Given the description of an element on the screen output the (x, y) to click on. 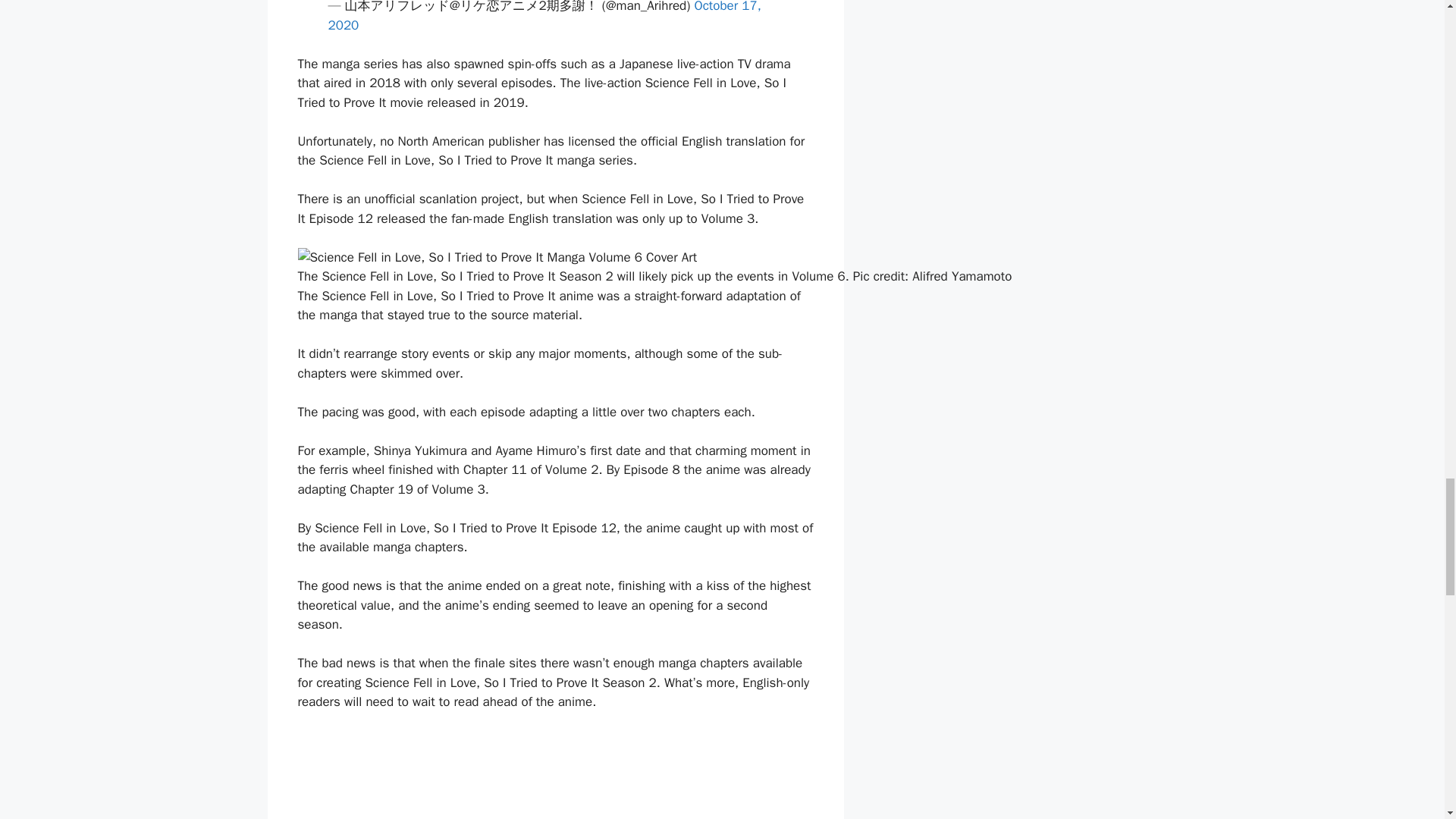
October 17, 2020 (543, 16)
